Given the description of an element on the screen output the (x, y) to click on. 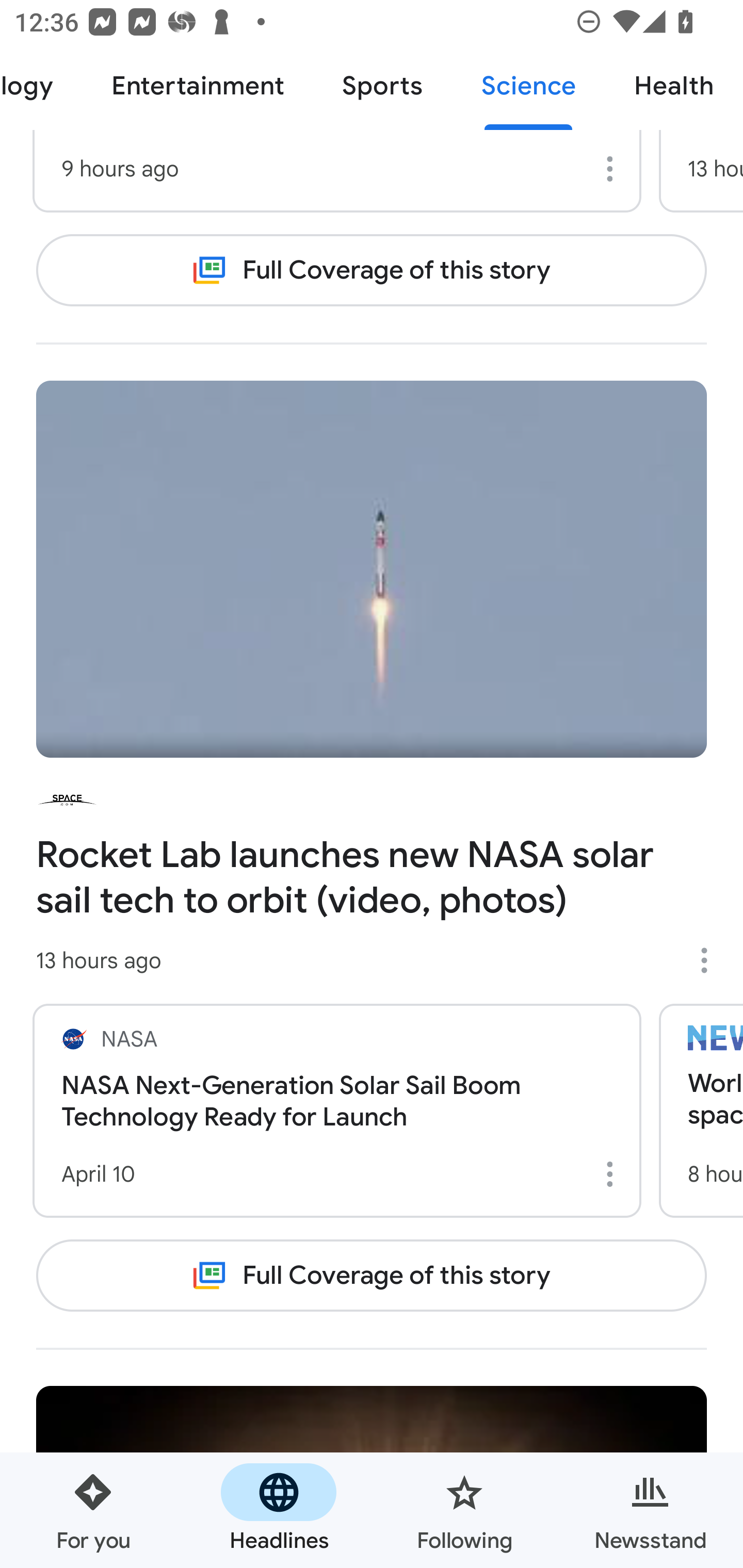
Technology (40, 86)
Entertainment (197, 86)
Sports (382, 86)
Health (673, 86)
More options (613, 168)
Full Coverage of this story (371, 269)
More options (711, 960)
More options (613, 1174)
Full Coverage of this story (371, 1275)
For you (92, 1509)
Headlines (278, 1509)
Following (464, 1509)
Newsstand (650, 1509)
